Given the description of an element on the screen output the (x, y) to click on. 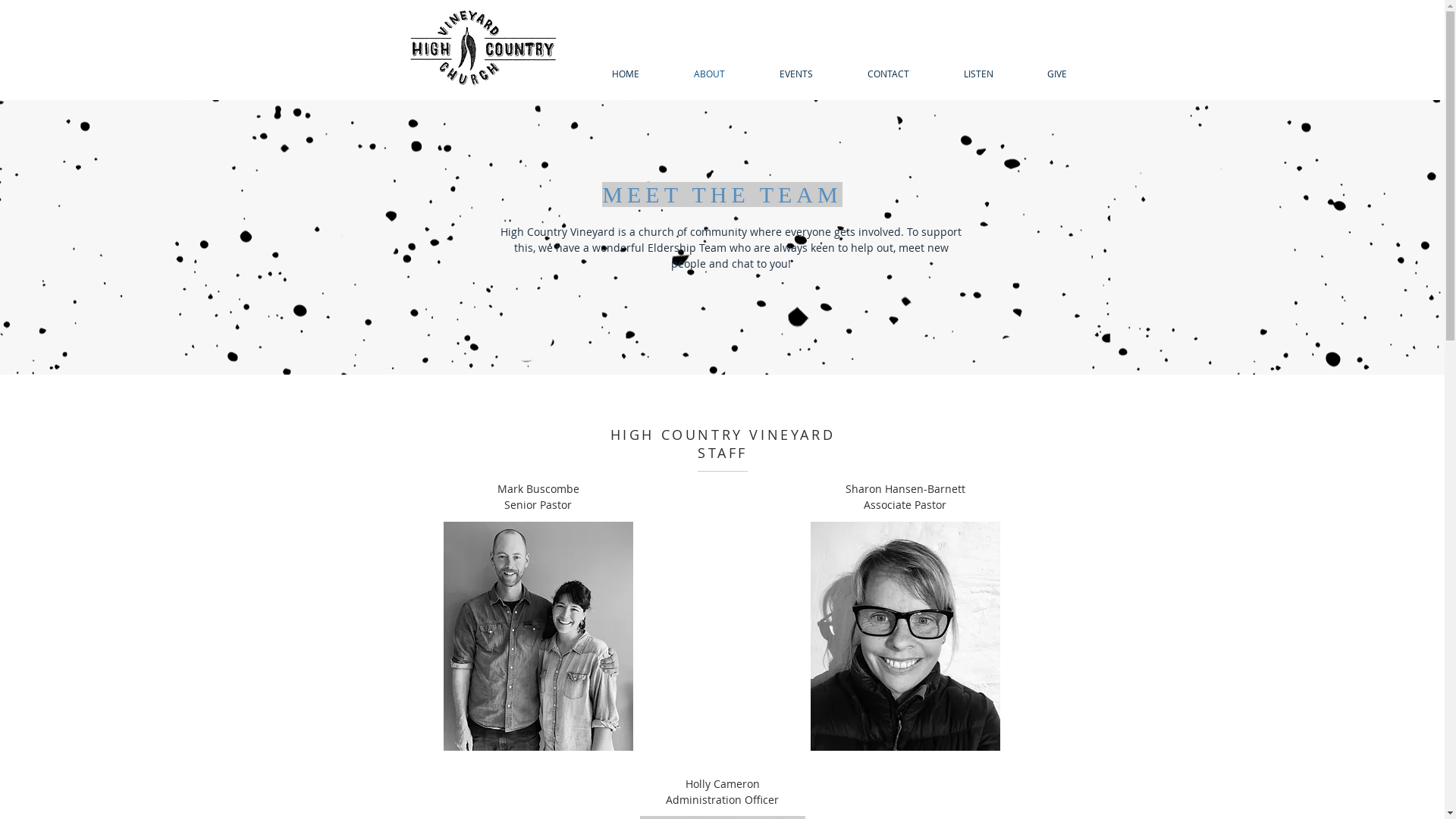
HOME Element type: text (624, 73)
EVENTS Element type: text (796, 73)
LISTEN Element type: text (977, 73)
CONTACT Element type: text (888, 73)
GIVE Element type: text (1057, 73)
ABOUT Element type: text (708, 73)
